Given the description of an element on the screen output the (x, y) to click on. 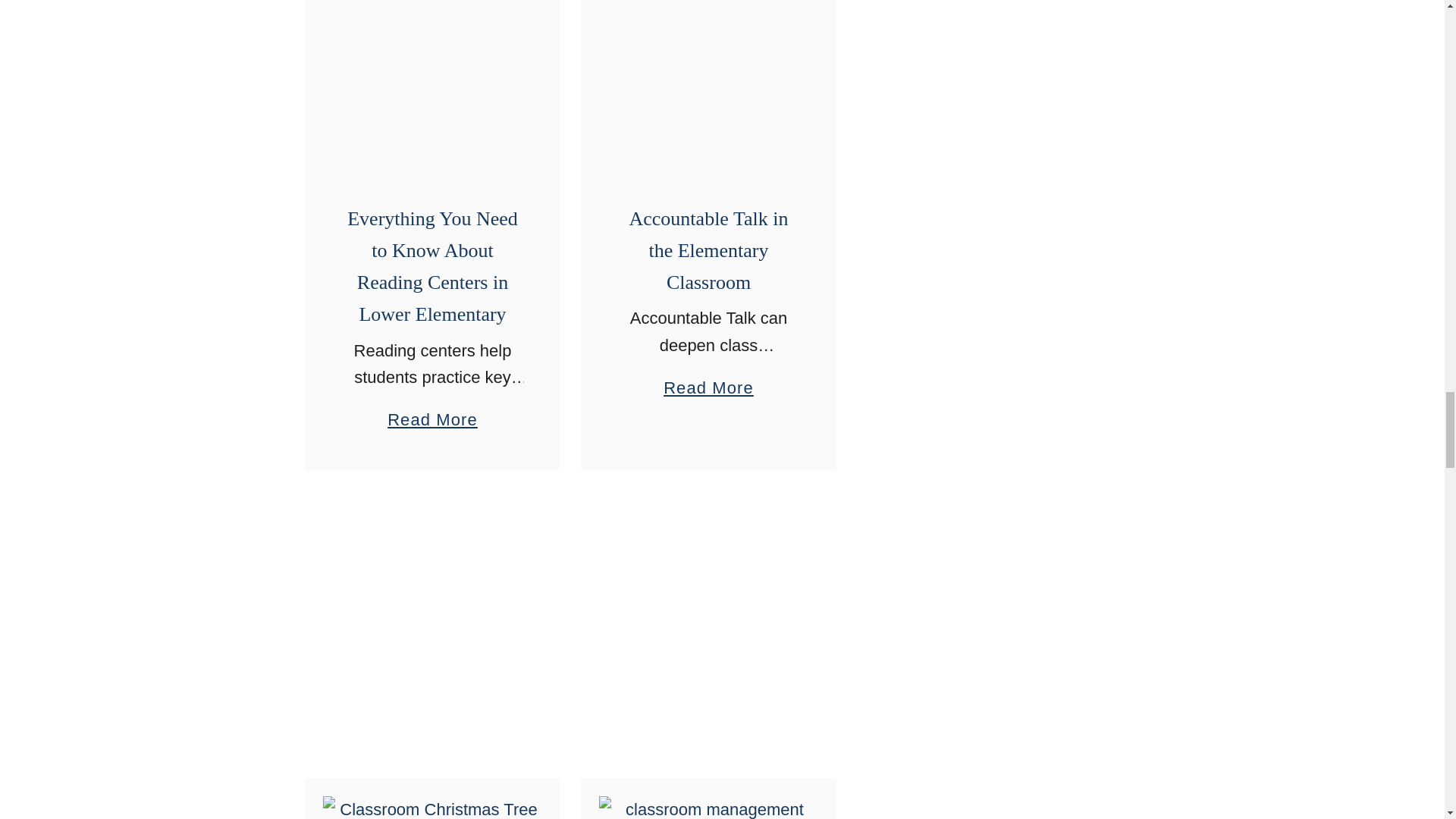
Classroom Christmas Tree Ideas (432, 807)
Accountable Talk in the Elementary Classroom (708, 83)
